Given the description of an element on the screen output the (x, y) to click on. 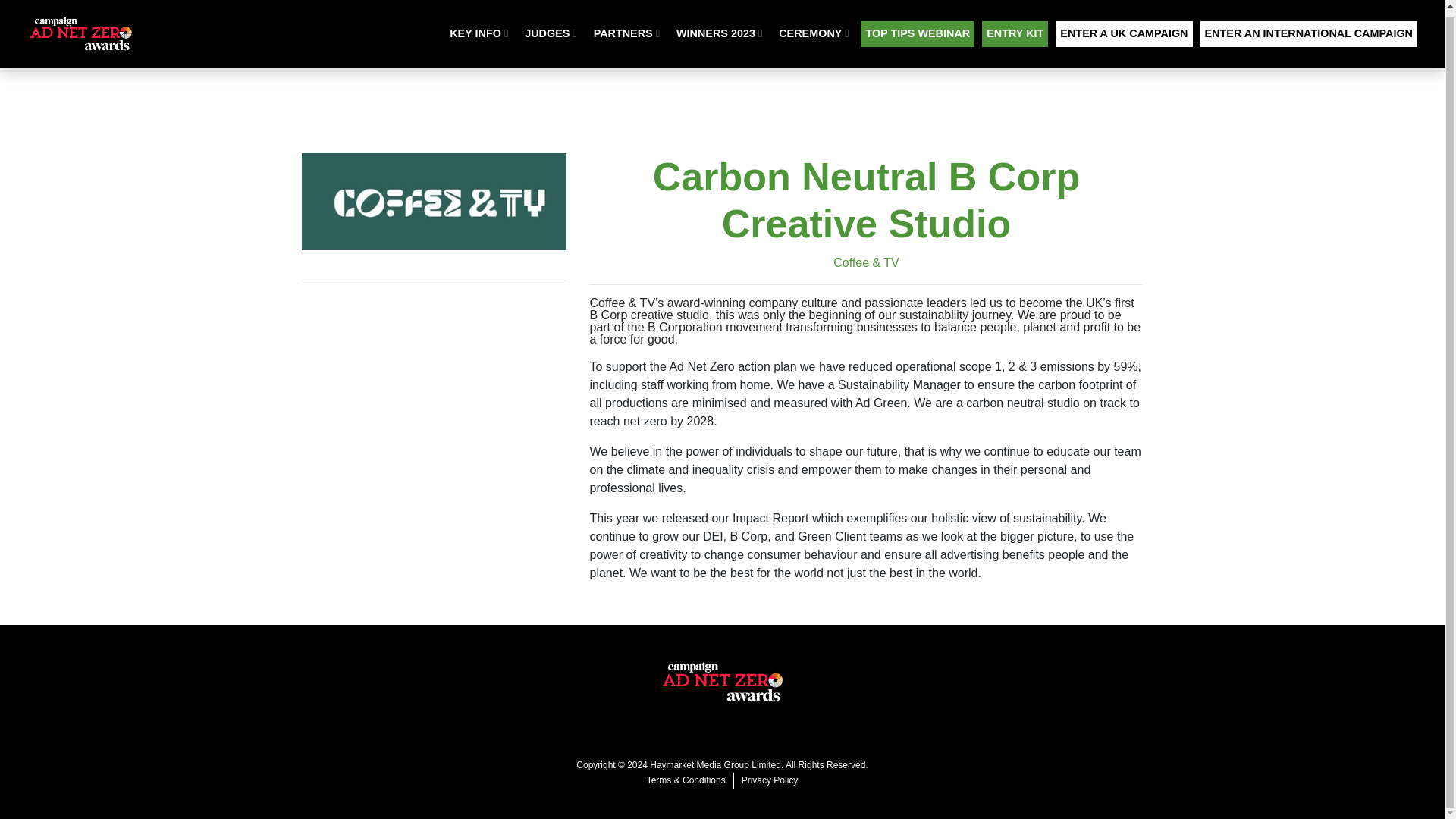
CEREMONY (813, 27)
TOP TIPS WEBINAR (917, 27)
KEY INFO (478, 27)
Privacy Policy (769, 780)
ENTER AN INTERNATIONAL CAMPAIGN (1307, 27)
JUDGES (549, 27)
WINNERS 2023 (719, 27)
JUDGES (549, 27)
PARTNERS (626, 27)
ENTER A UK CAMPAIGN (1123, 27)
PARTNERS (626, 27)
ENTER AN INTERNATIONAL CAMPAIGN (1307, 27)
CEREMONY (813, 27)
WINNERS 2023 (719, 27)
ENTRY KIT (1014, 27)
